Given the description of an element on the screen output the (x, y) to click on. 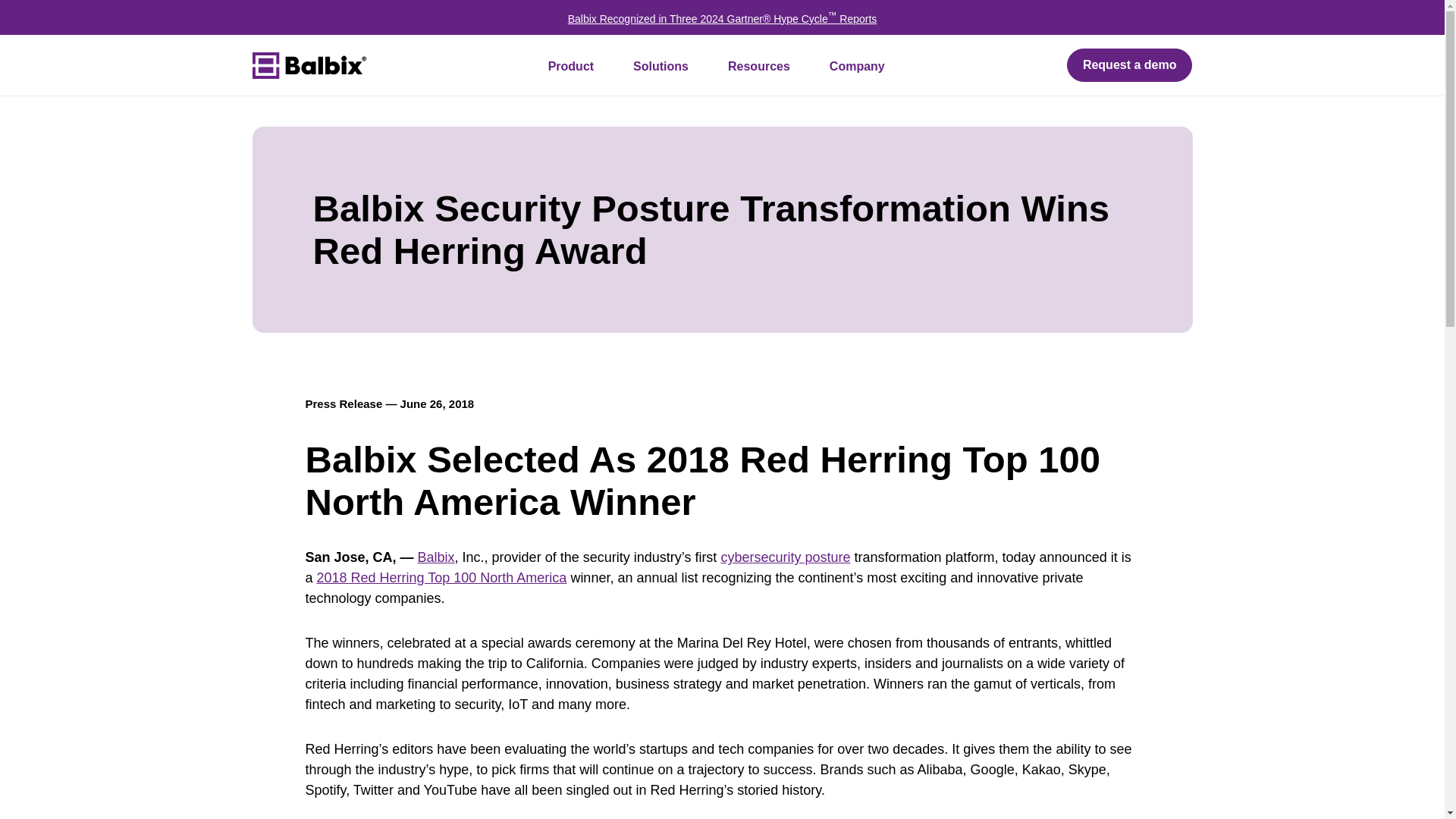
Product (570, 65)
Request a demo (1129, 64)
Company (856, 65)
Resources (759, 65)
Solutions (660, 65)
